Given the description of an element on the screen output the (x, y) to click on. 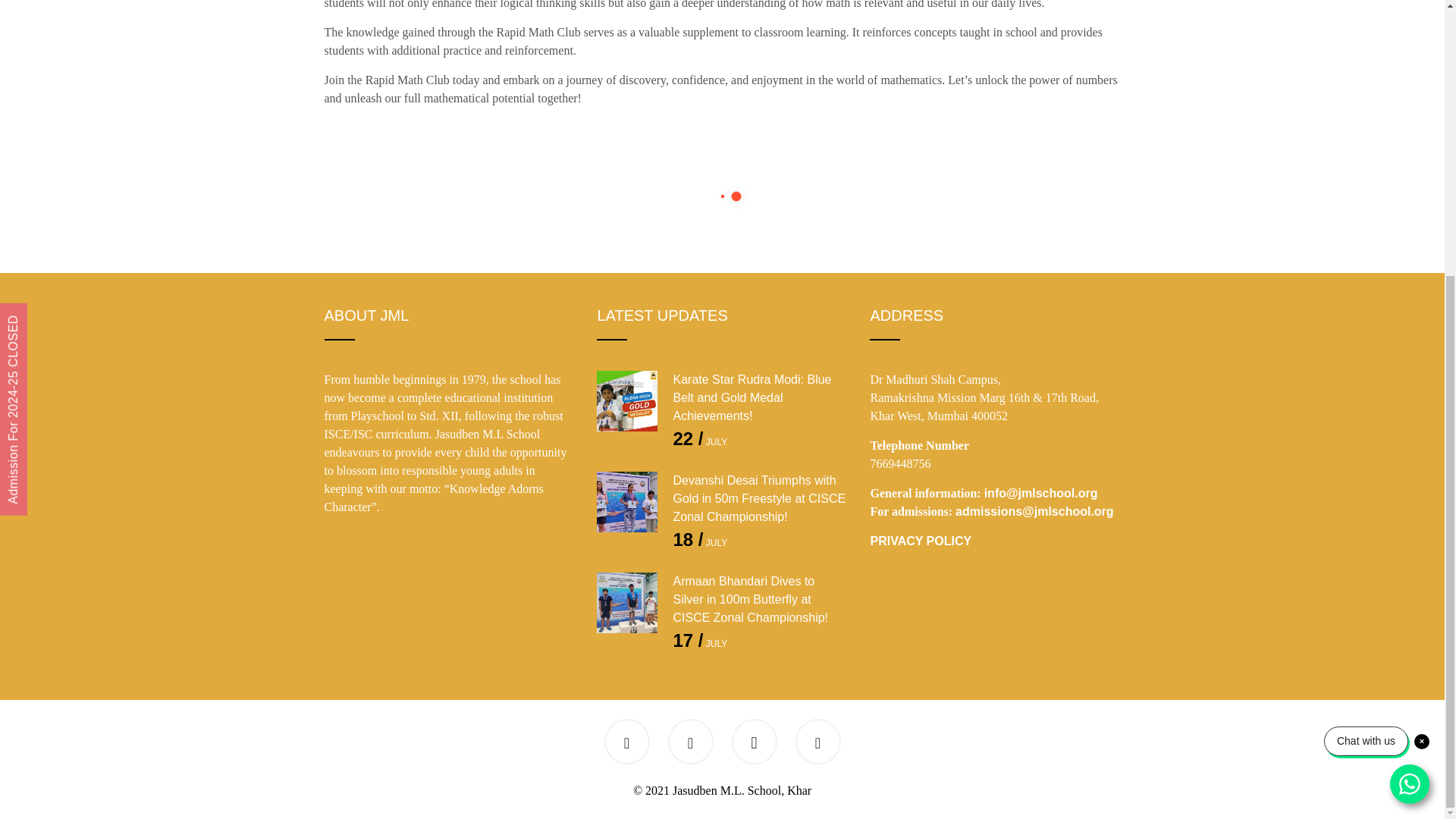
Instagram (754, 744)
Facebook (626, 744)
Linkedin (818, 744)
Youtube (690, 744)
